Given the description of an element on the screen output the (x, y) to click on. 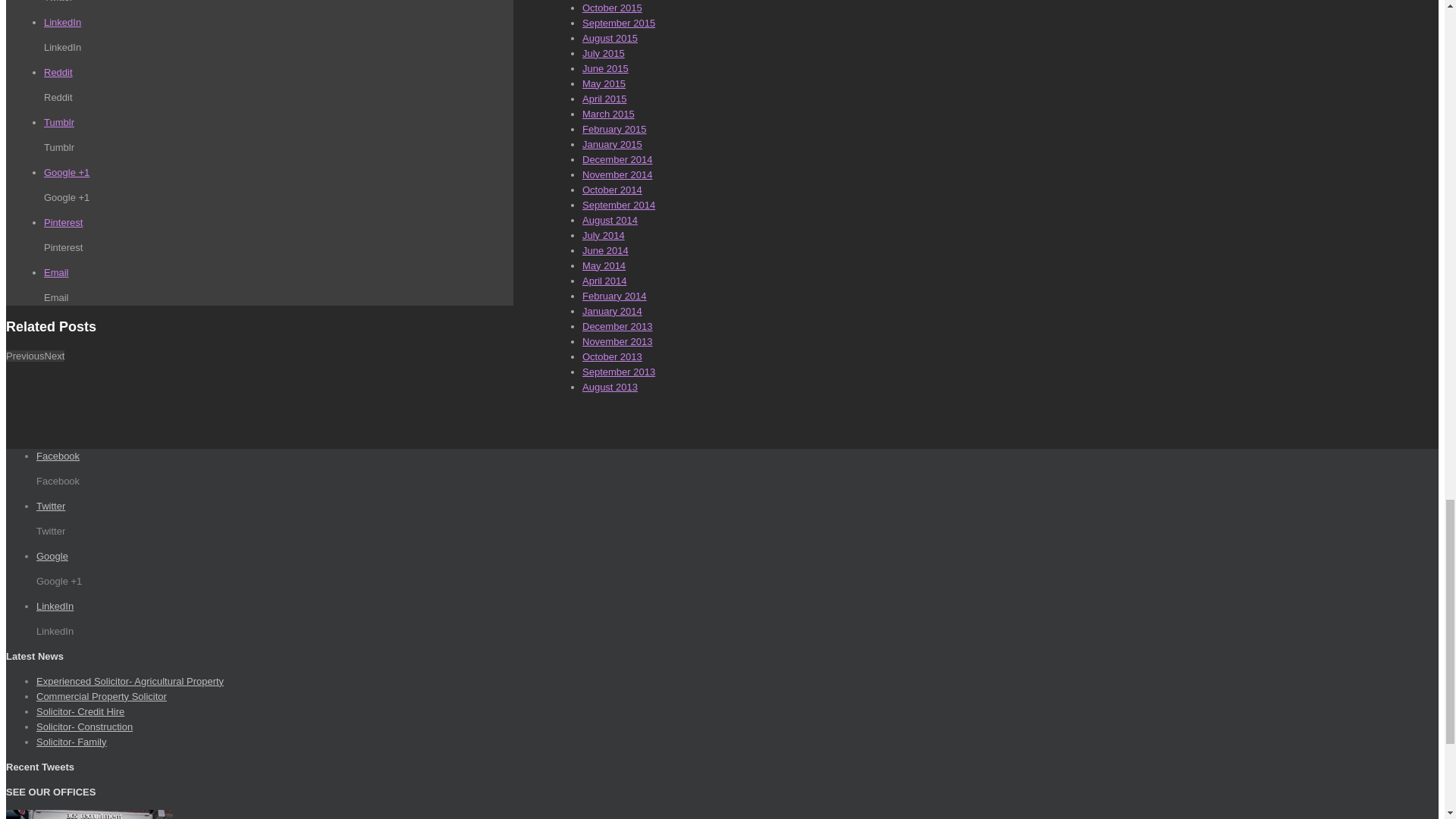
LinkedIn (62, 21)
Reddit (57, 71)
Email (55, 272)
Pinterest (62, 222)
Tumblr (58, 122)
